Given the description of an element on the screen output the (x, y) to click on. 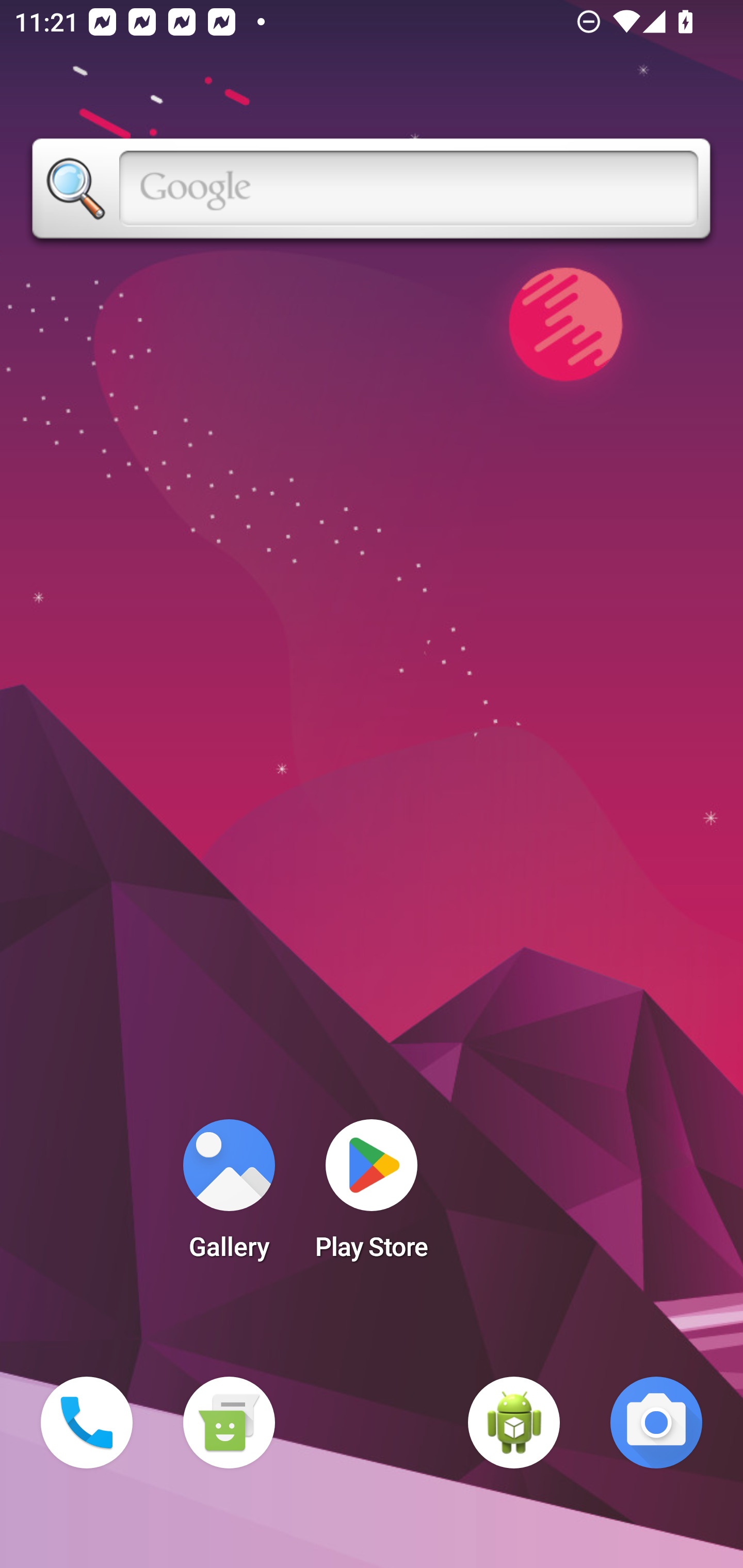
Gallery (228, 1195)
Play Store (371, 1195)
Phone (86, 1422)
Messaging (228, 1422)
WebView Browser Tester (513, 1422)
Camera (656, 1422)
